Given the description of an element on the screen output the (x, y) to click on. 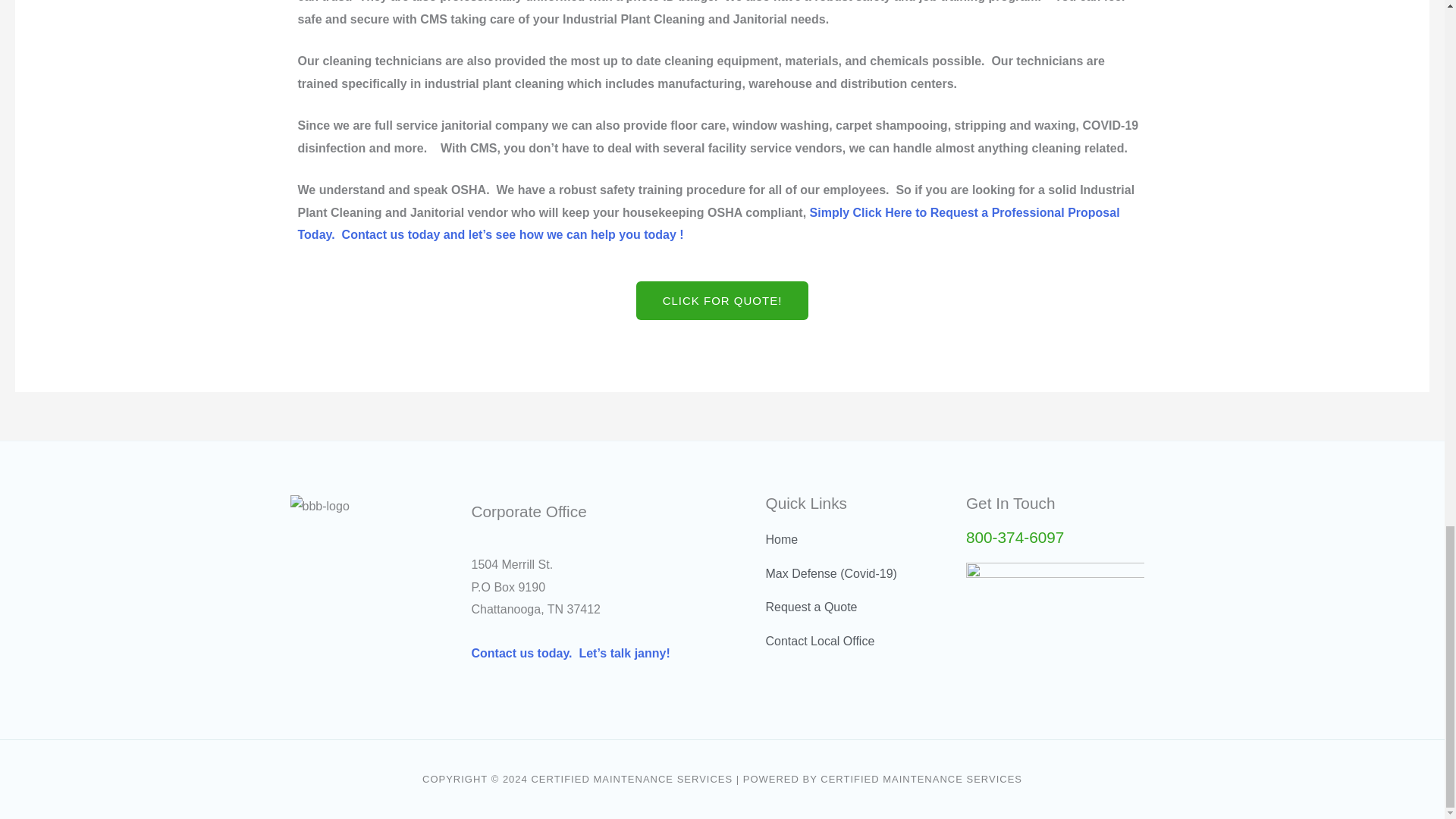
Request a Quote (708, 223)
